Given the description of an element on the screen output the (x, y) to click on. 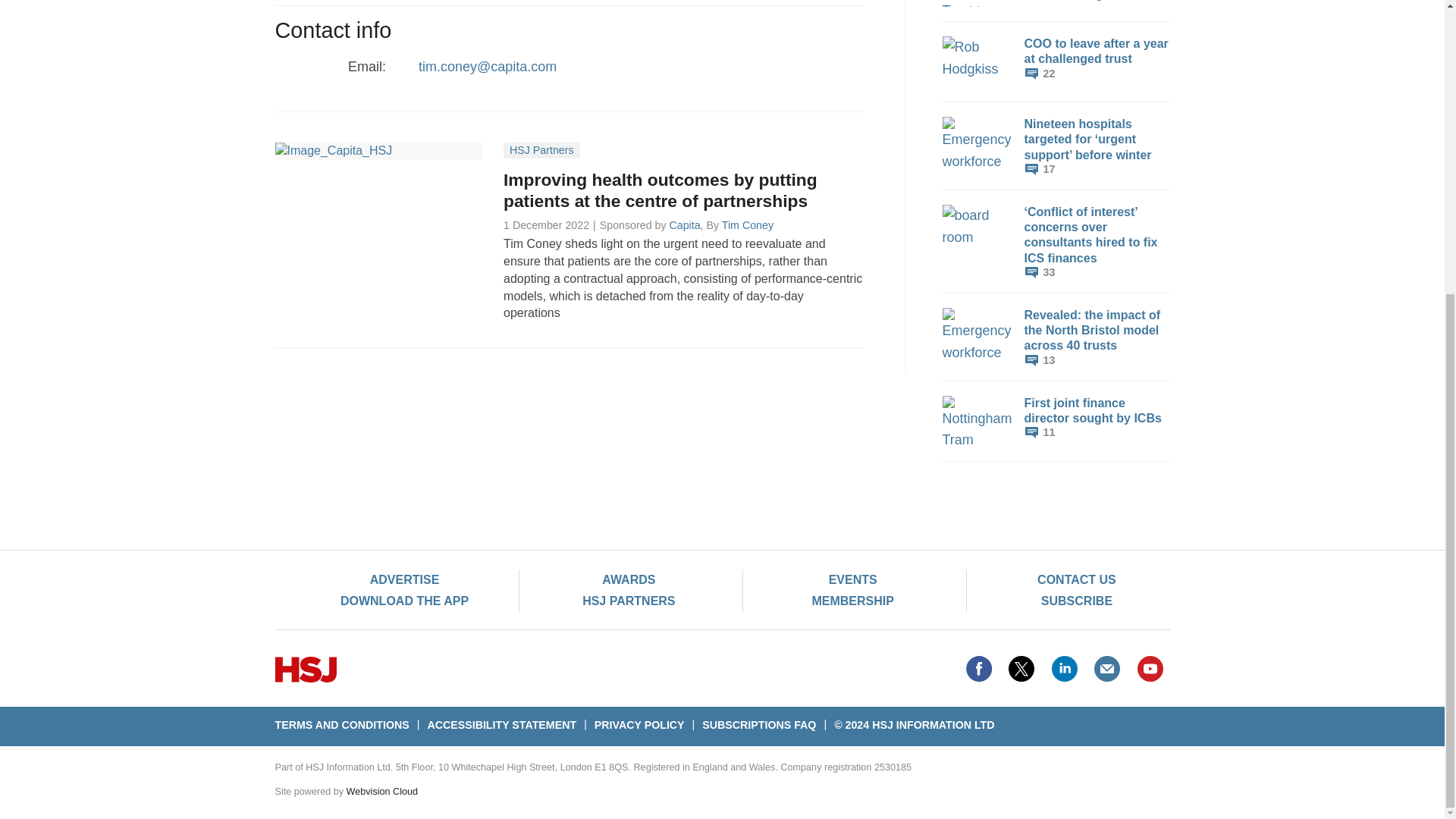
Connect with us on Linked in (1064, 668)
Connect with us on Facebook (978, 668)
Email us (1107, 668)
Connect with us on Youtube (1149, 668)
Connect with us on Twitter (1021, 668)
